Given the description of an element on the screen output the (x, y) to click on. 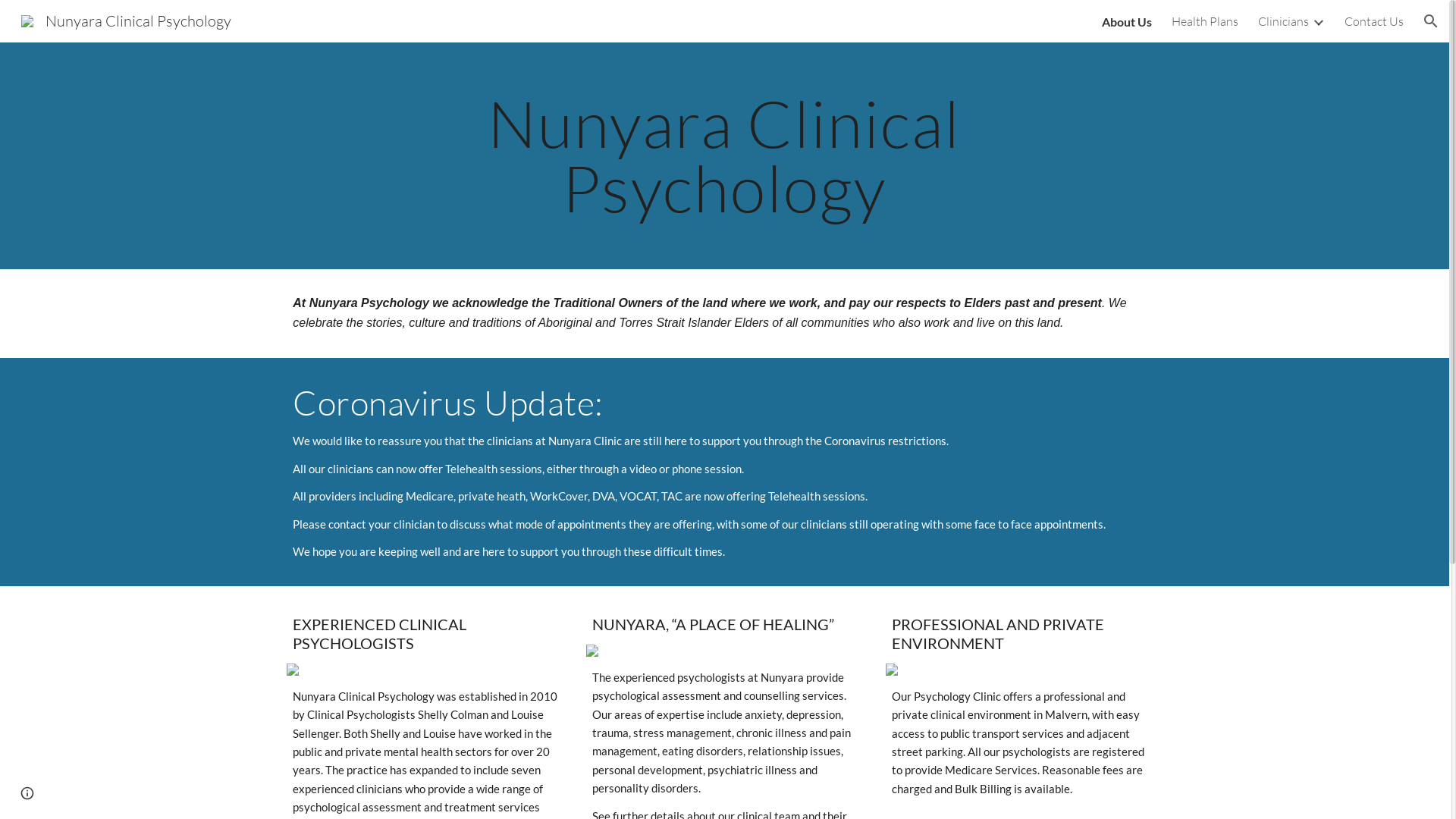
About Us Element type: text (1126, 20)
Clinicians Element type: text (1283, 20)
Expand/Collapse Element type: hover (1317, 20)
Health Plans Element type: text (1204, 20)
Nunyara Clinical Psychology Element type: text (126, 18)
Contact Us Element type: text (1373, 20)
